Given the description of an element on the screen output the (x, y) to click on. 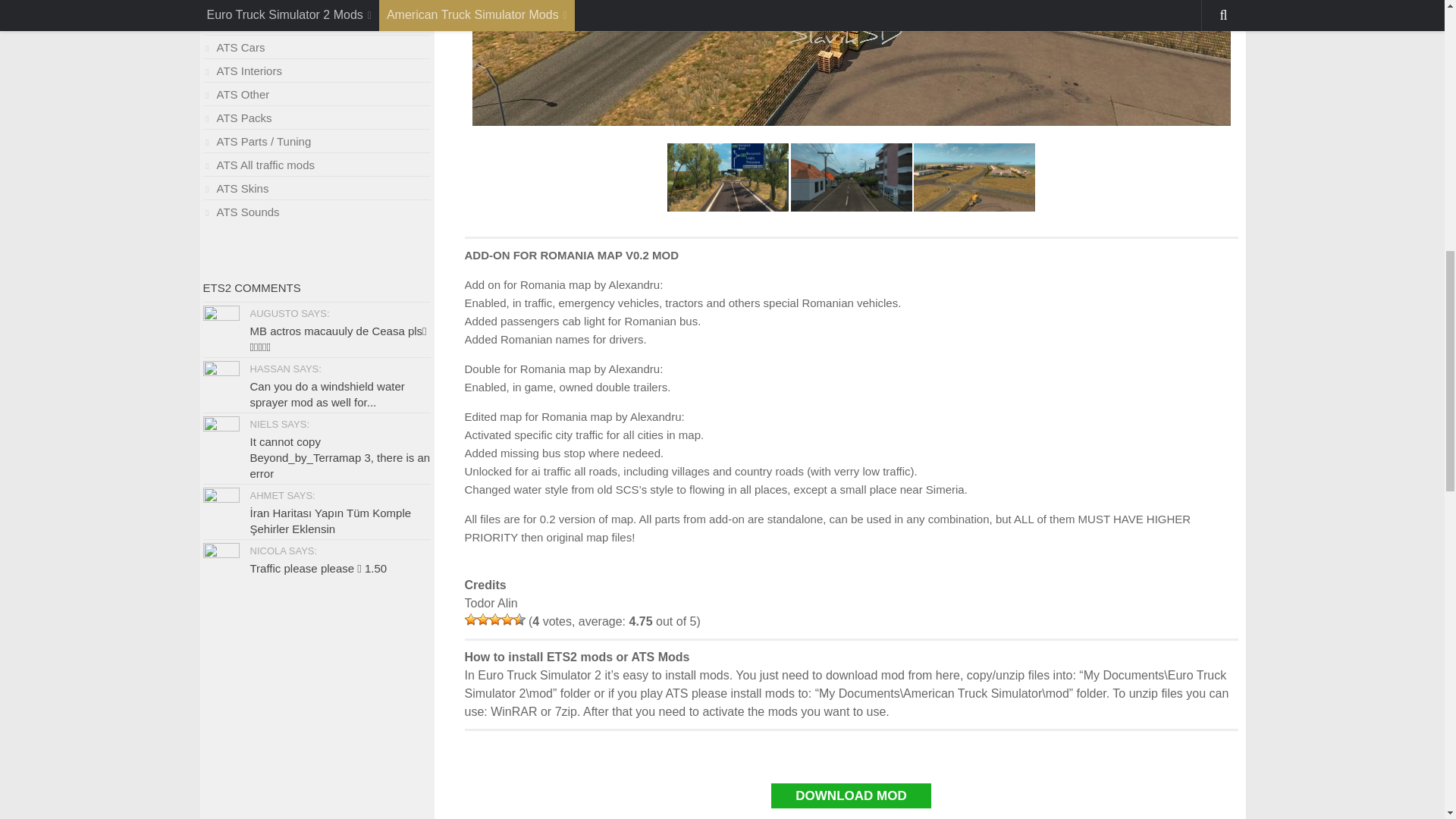
2 Stars (481, 619)
1 Star (470, 619)
3 Stars (493, 619)
DOWNLOAD MOD (850, 795)
5 Stars (518, 619)
4 Stars (506, 619)
